Given the description of an element on the screen output the (x, y) to click on. 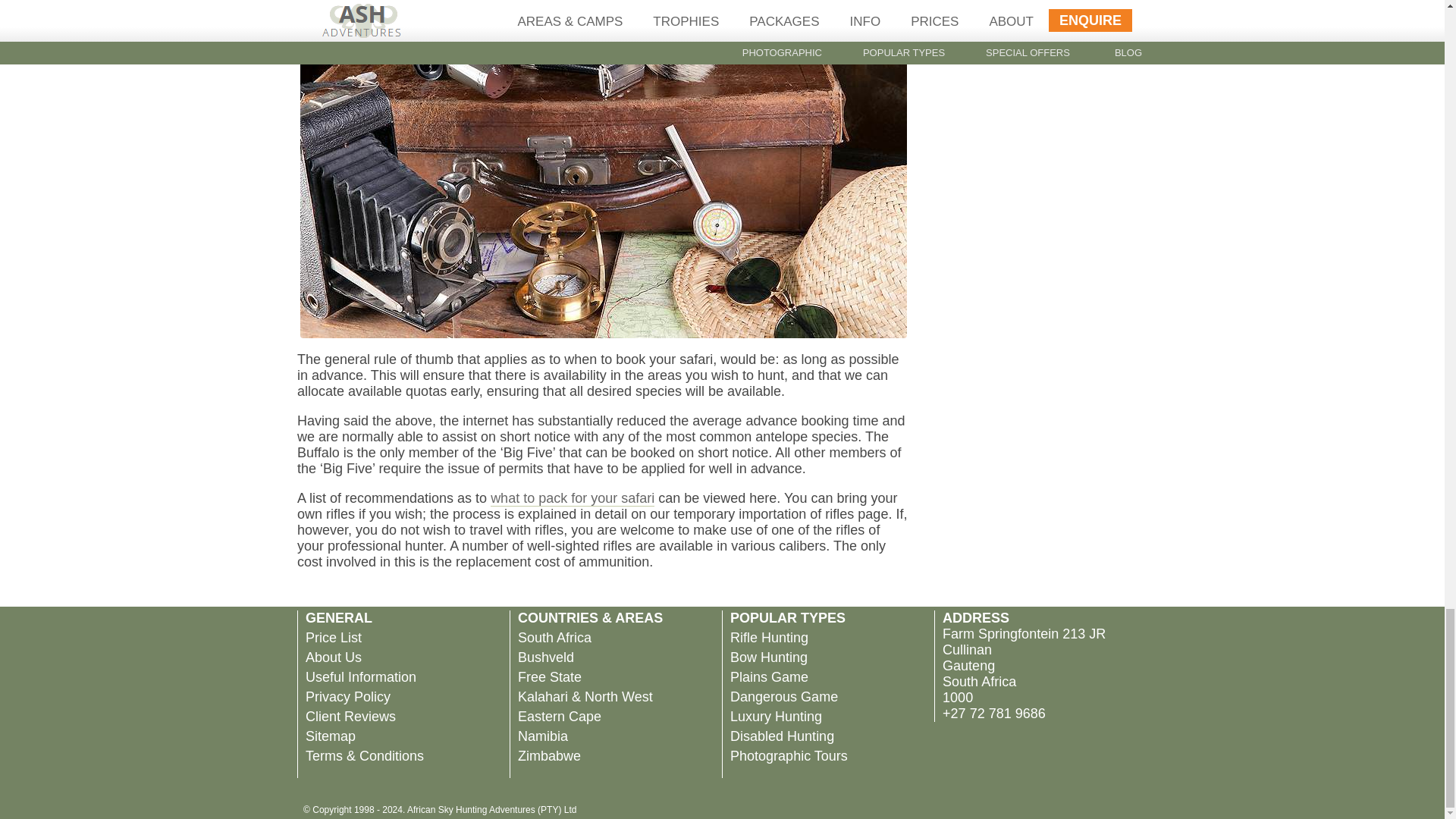
Free State (549, 676)
Useful Information (360, 676)
Privacy Policy (347, 695)
Client Reviews (350, 715)
Bushveld (545, 656)
what to pack for your safari (571, 497)
Price List (333, 636)
South Africa (554, 636)
About Us (333, 656)
Sitemap (330, 735)
